Given the description of an element on the screen output the (x, y) to click on. 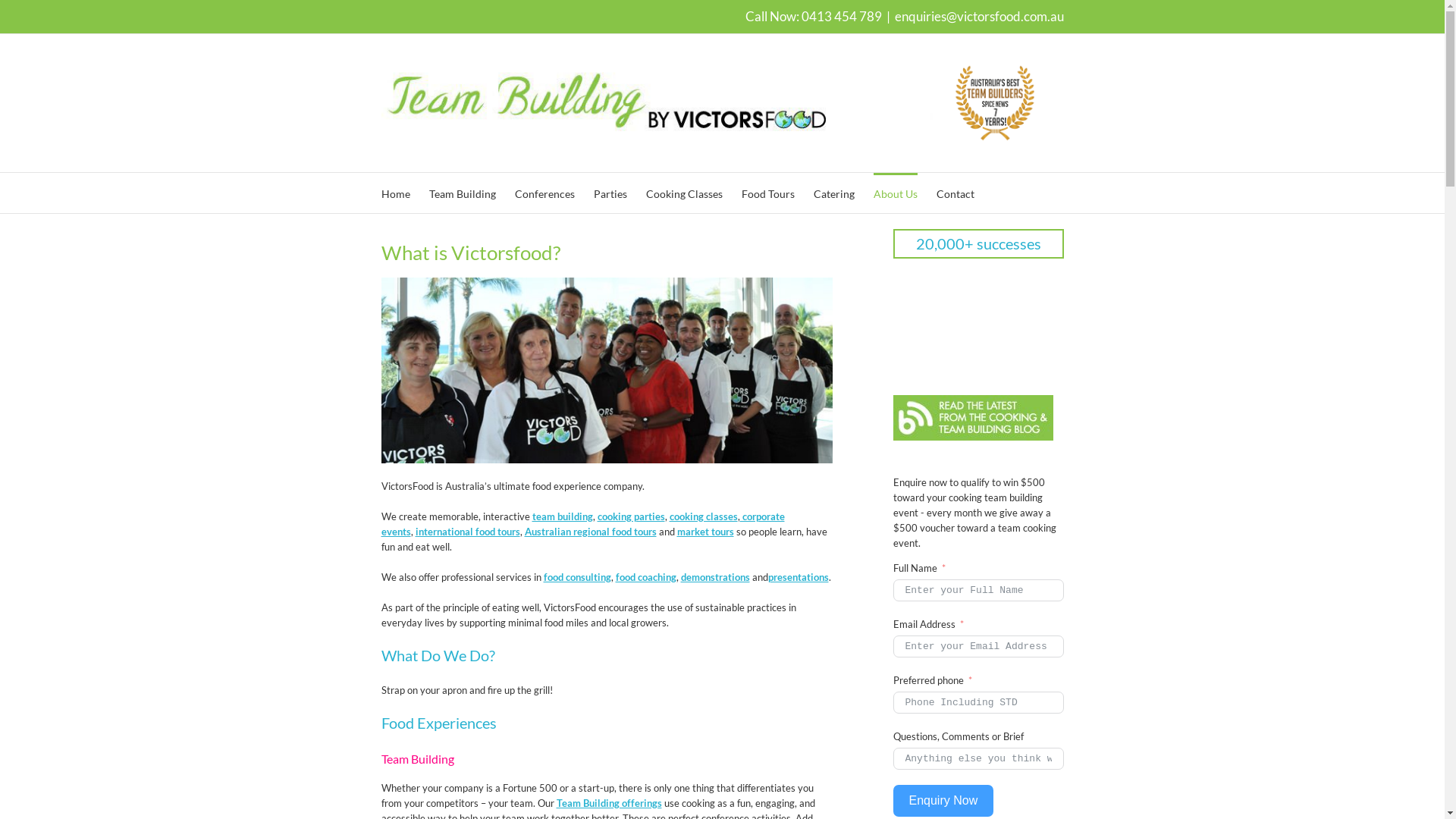
Parties Element type: text (609, 192)
international food tours Element type: text (467, 531)
food consulting Element type: text (576, 577)
 corporate events Element type: text (582, 523)
presentations Element type: text (797, 577)
enquiries@victorsfood.com.au Element type: text (978, 16)
cooking classes Element type: text (702, 516)
Team Building offerings Element type: text (609, 803)
Cooking Classes Element type: text (684, 192)
About Us Element type: text (895, 192)
Australian regional food tours Element type: text (590, 531)
0413 454 789 Element type: text (840, 16)
Catering Element type: text (832, 192)
Food Tours Element type: text (767, 192)
team building Element type: text (562, 516)
Enquiry Now Element type: text (943, 800)
cooking parties Element type: text (631, 516)
Home Element type: text (394, 192)
Contact Element type: text (954, 192)
market tours Element type: text (704, 531)
demonstrations Element type: text (714, 577)
Team Building Element type: text (462, 192)
Conferences Element type: text (544, 192)
food coaching Element type: text (645, 577)
